Given the description of an element on the screen output the (x, y) to click on. 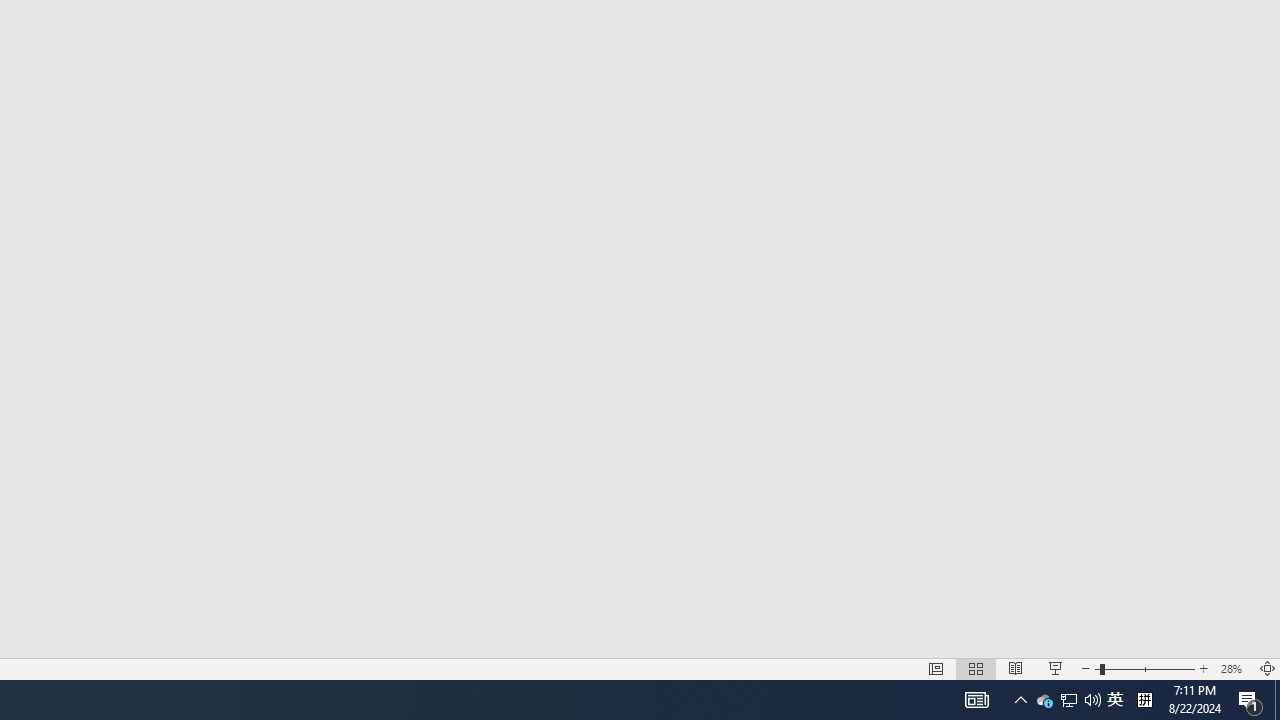
Zoom 28% (1234, 668)
